Given the description of an element on the screen output the (x, y) to click on. 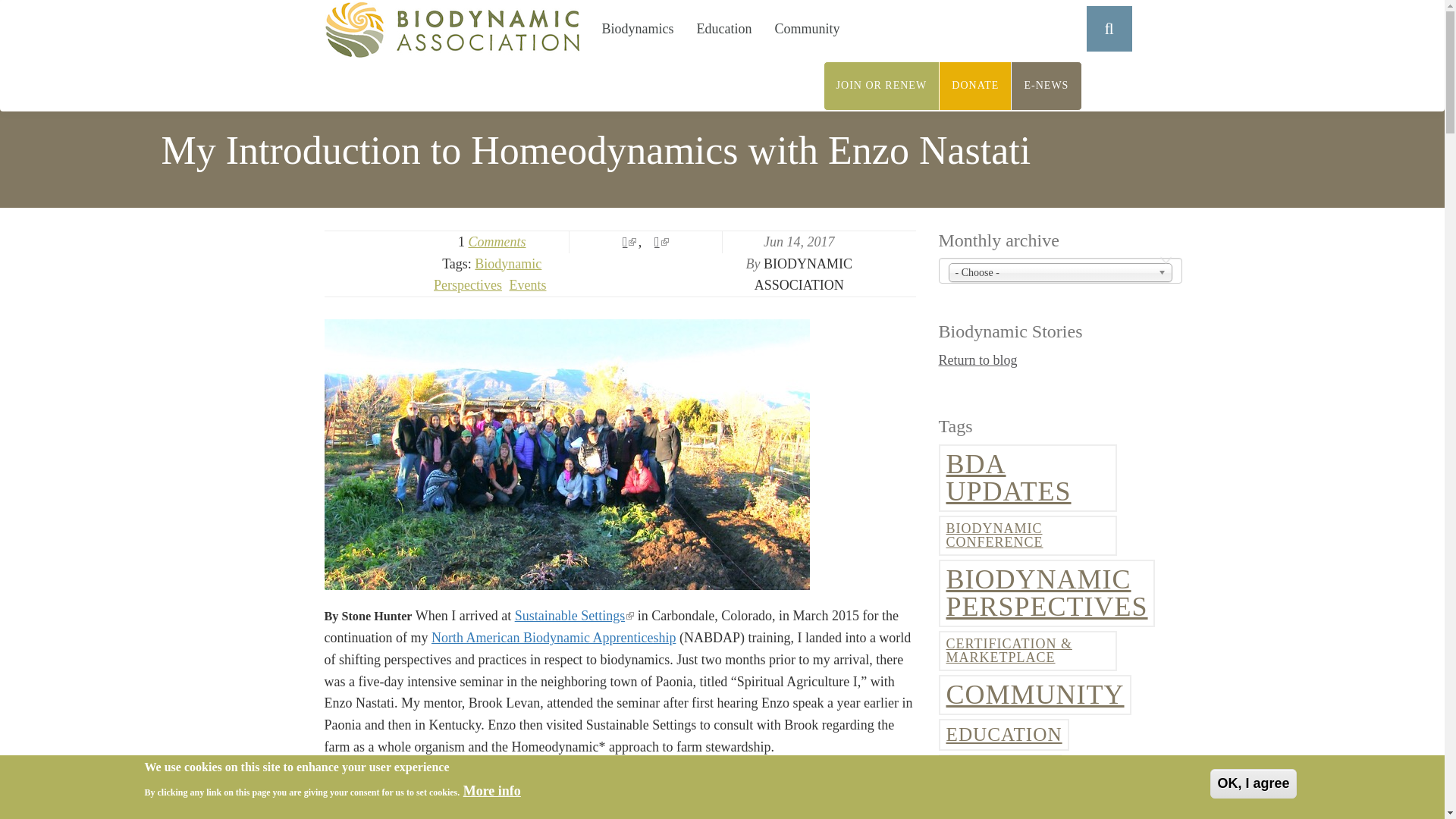
Home (457, 29)
Community (806, 28)
Login (1005, 74)
Share this on Twitter (630, 241)
Biodynamics (636, 28)
Share on Facebook (660, 241)
Reset Password (1074, 74)
Education (723, 28)
